Given the description of an element on the screen output the (x, y) to click on. 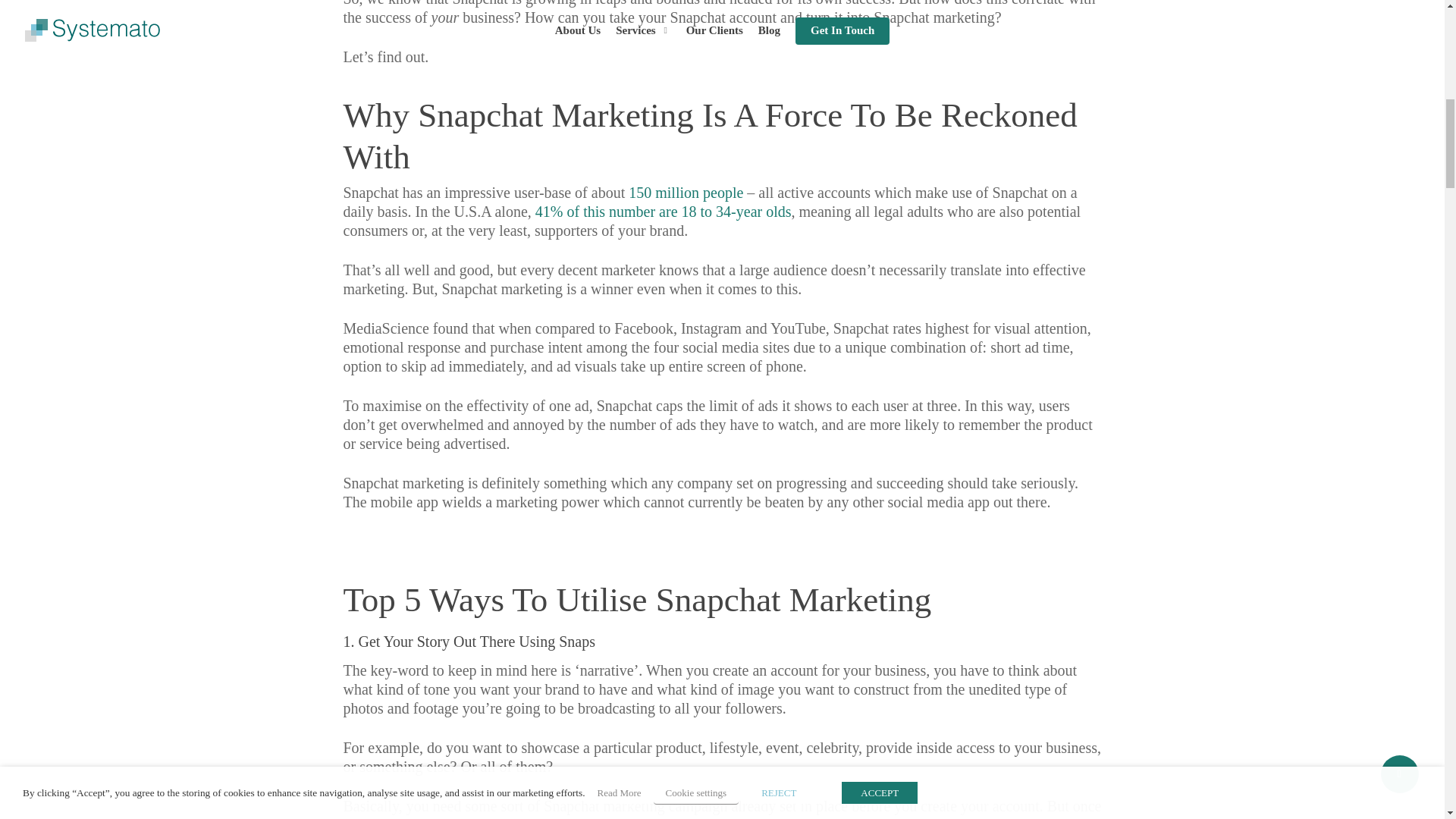
150 million people (685, 192)
